Given the description of an element on the screen output the (x, y) to click on. 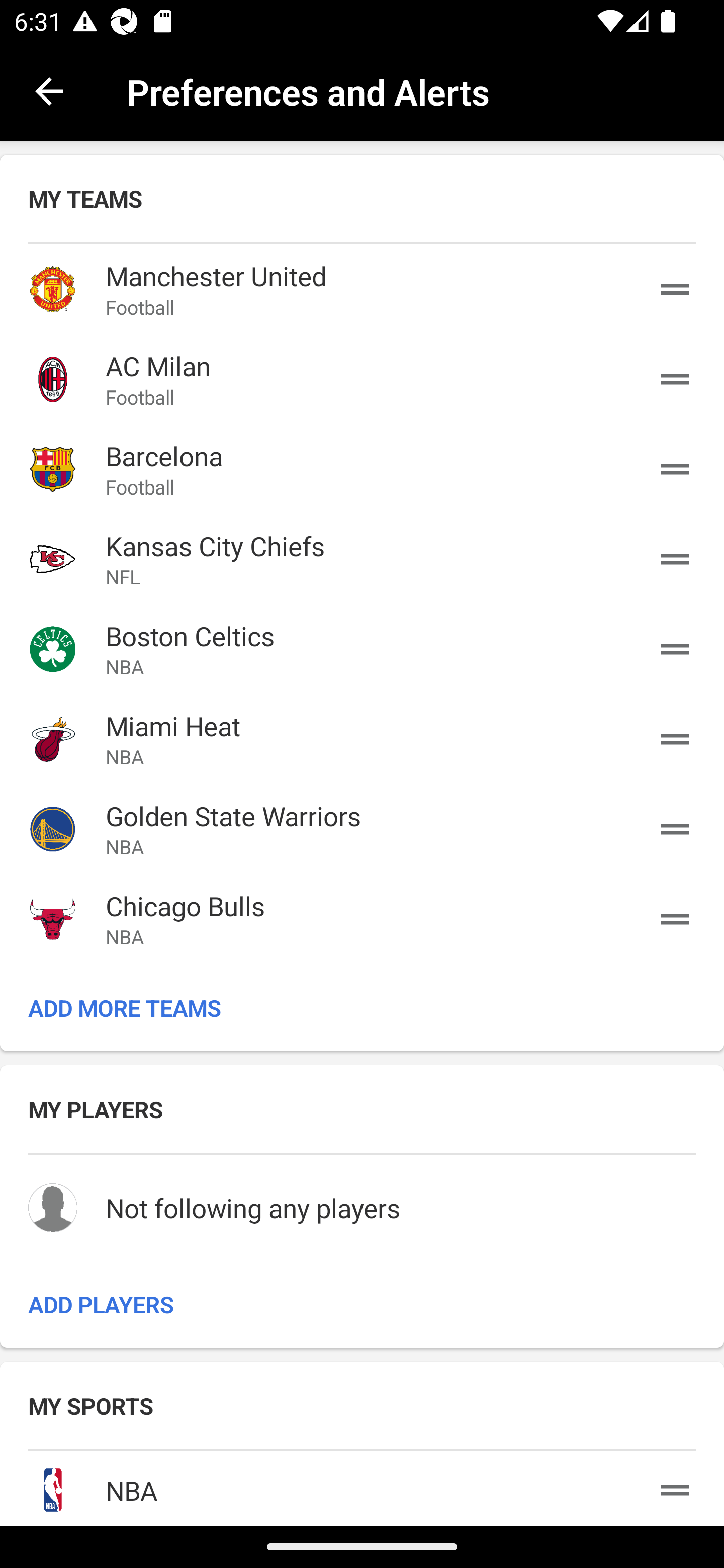
back.button (49, 90)
AC Milan AC Milan AC Milan Football Football (362, 378)
Barcelona Barcelona Barcelona Football Football (362, 469)
Miami Heat Miami Heat Miami Heat NBA NBA (362, 739)
Chicago Bulls Chicago Bulls Chicago Bulls NBA NBA (362, 918)
ADD MORE TEAMS (362, 1008)
ADD PLAYERS (362, 1304)
NBA NBA NBA (362, 1486)
